Given the description of an element on the screen output the (x, y) to click on. 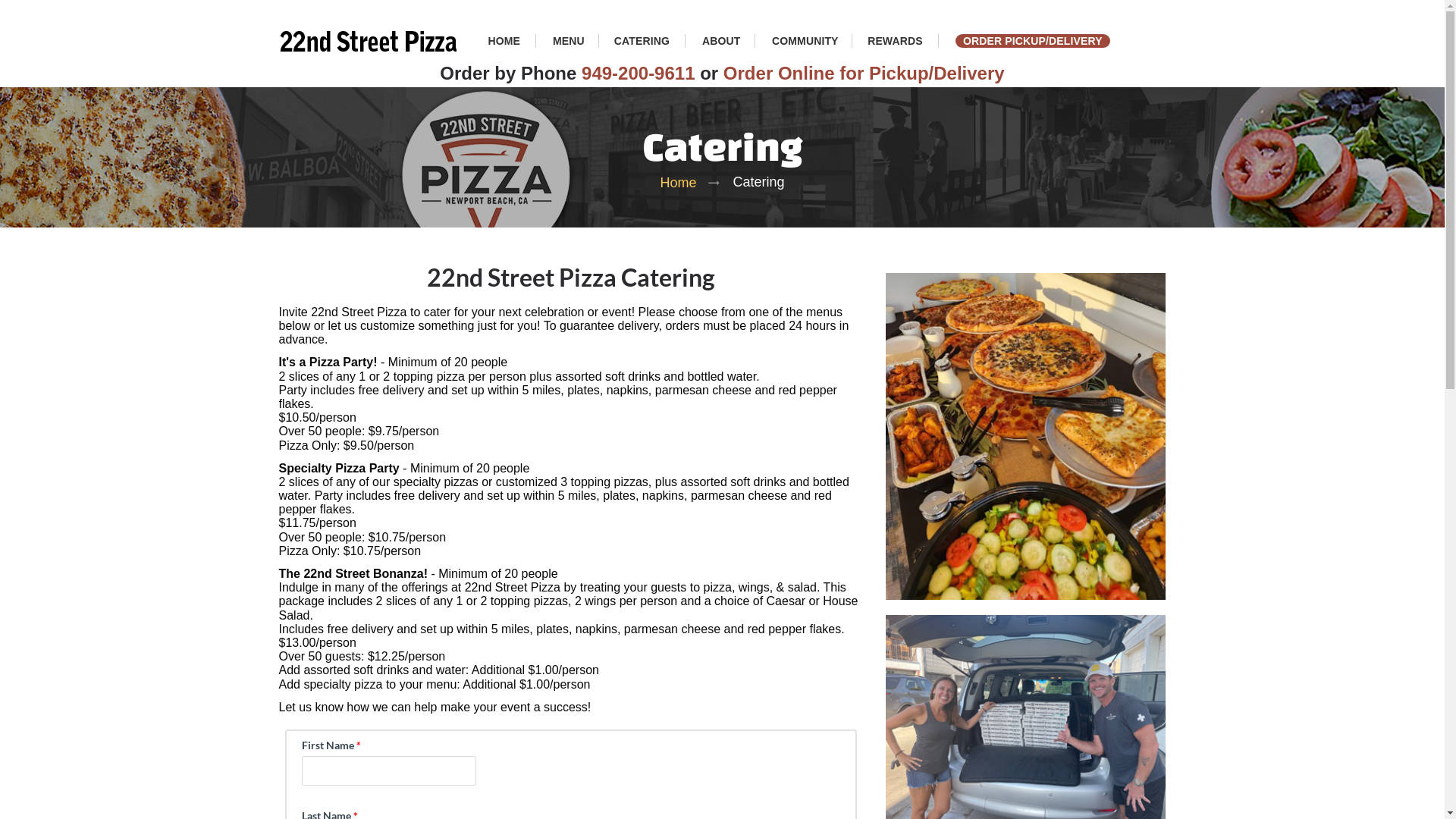
Navigation Menu Element type: text (18, 18)
Pizza Element type: hover (1025, 436)
ORDER PICKUP/DELIVERY Element type: text (1032, 40)
22nd Street Pizza Element type: hover (368, 41)
949-200-9611 Element type: text (637, 72)
MENU Element type: text (568, 38)
HOME Element type: text (504, 40)
COMMUNITY Element type: text (804, 38)
Home Element type: text (678, 182)
ABOUT Element type: text (721, 38)
Order Online for Pickup/Delivery Element type: text (863, 72)
REWARDS Element type: text (894, 40)
CATERING Element type: text (641, 40)
